Given the description of an element on the screen output the (x, y) to click on. 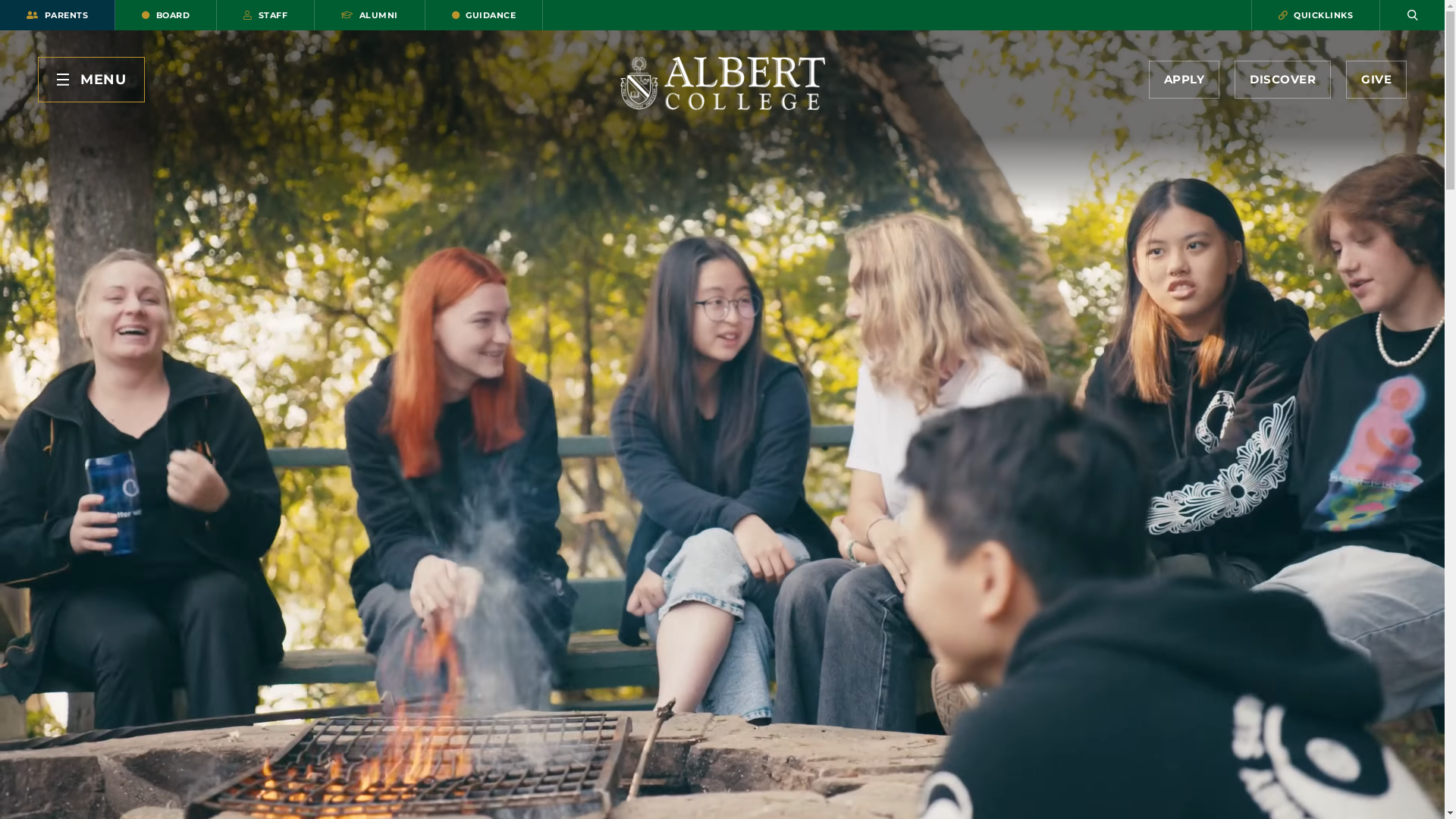
ALUMNI Element type: text (369, 15)
GIVE Element type: text (1376, 79)
BOARD Element type: text (165, 15)
STAFF Element type: text (265, 15)
QUICKLINKS Element type: text (1315, 15)
Search Open/Close Element type: text (1411, 15)
MENU Element type: text (90, 79)
APPLY Element type: text (1183, 79)
DISCOVER Element type: text (1282, 79)
GUIDANCE Element type: text (483, 15)
PARENTS Element type: text (57, 15)
